Given the description of an element on the screen output the (x, y) to click on. 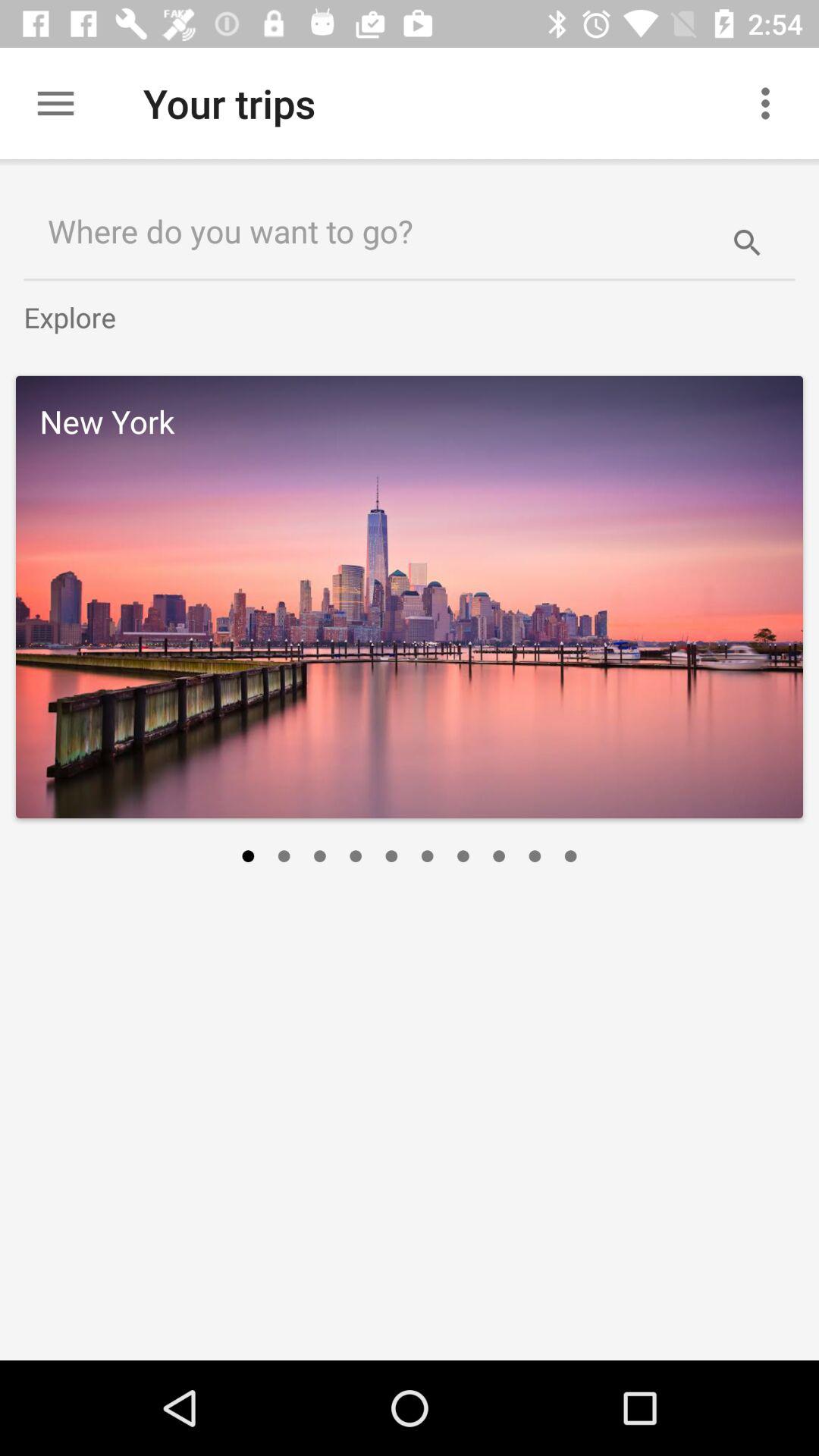
press item next to the your trips item (55, 103)
